Given the description of an element on the screen output the (x, y) to click on. 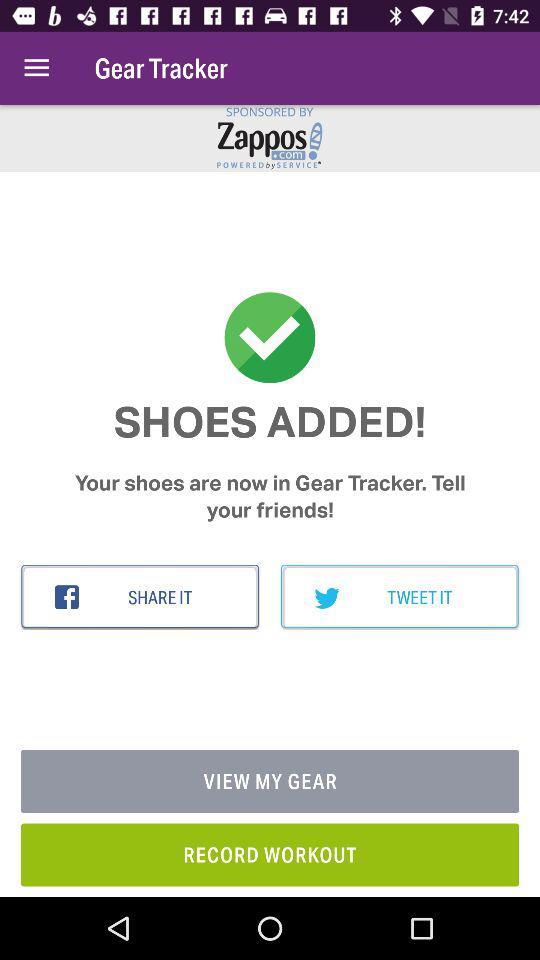
open the item above view my gear item (399, 597)
